Given the description of an element on the screen output the (x, y) to click on. 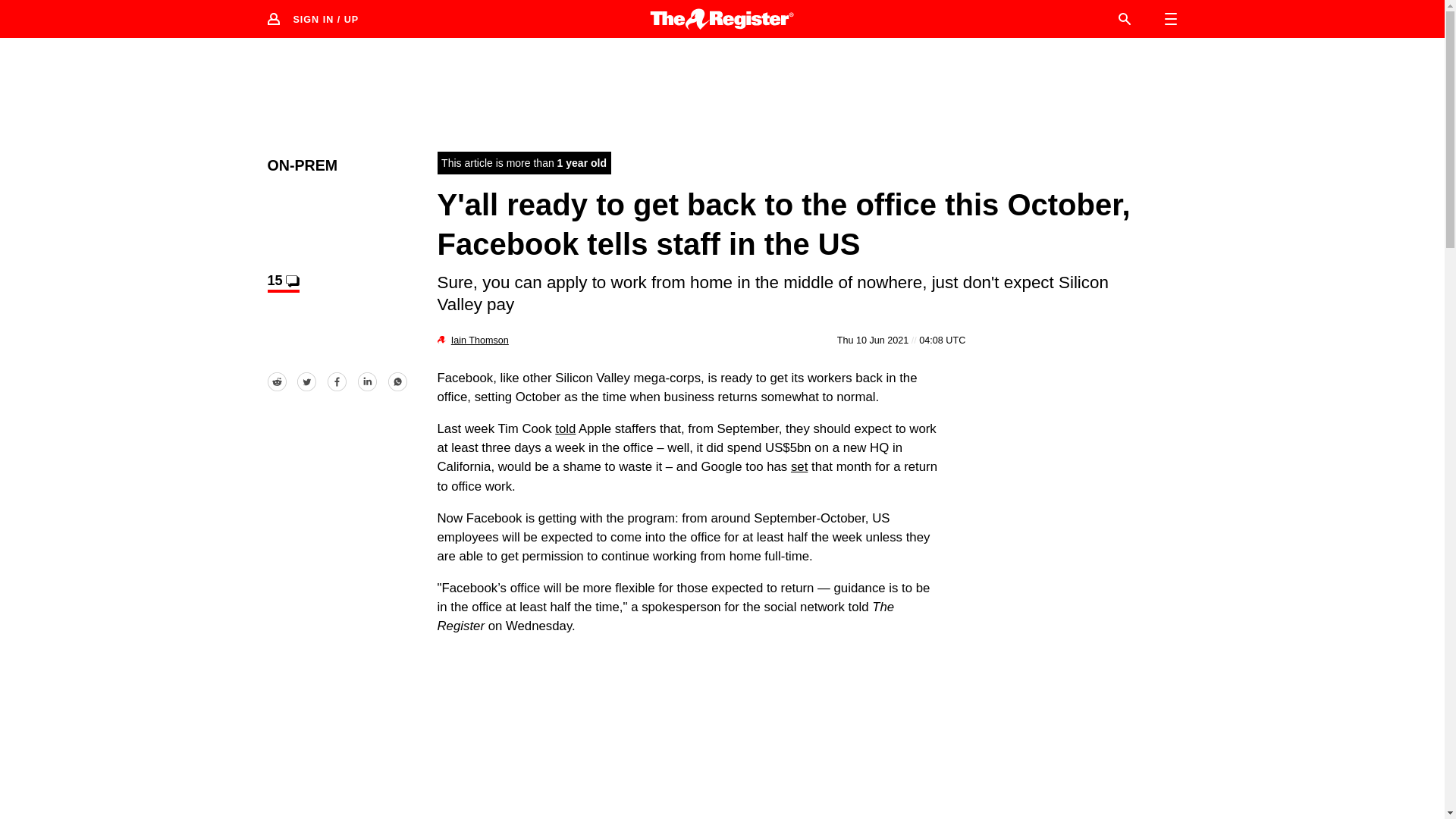
Read more by this author (479, 340)
View comments on this article (282, 282)
